Given the description of an element on the screen output the (x, y) to click on. 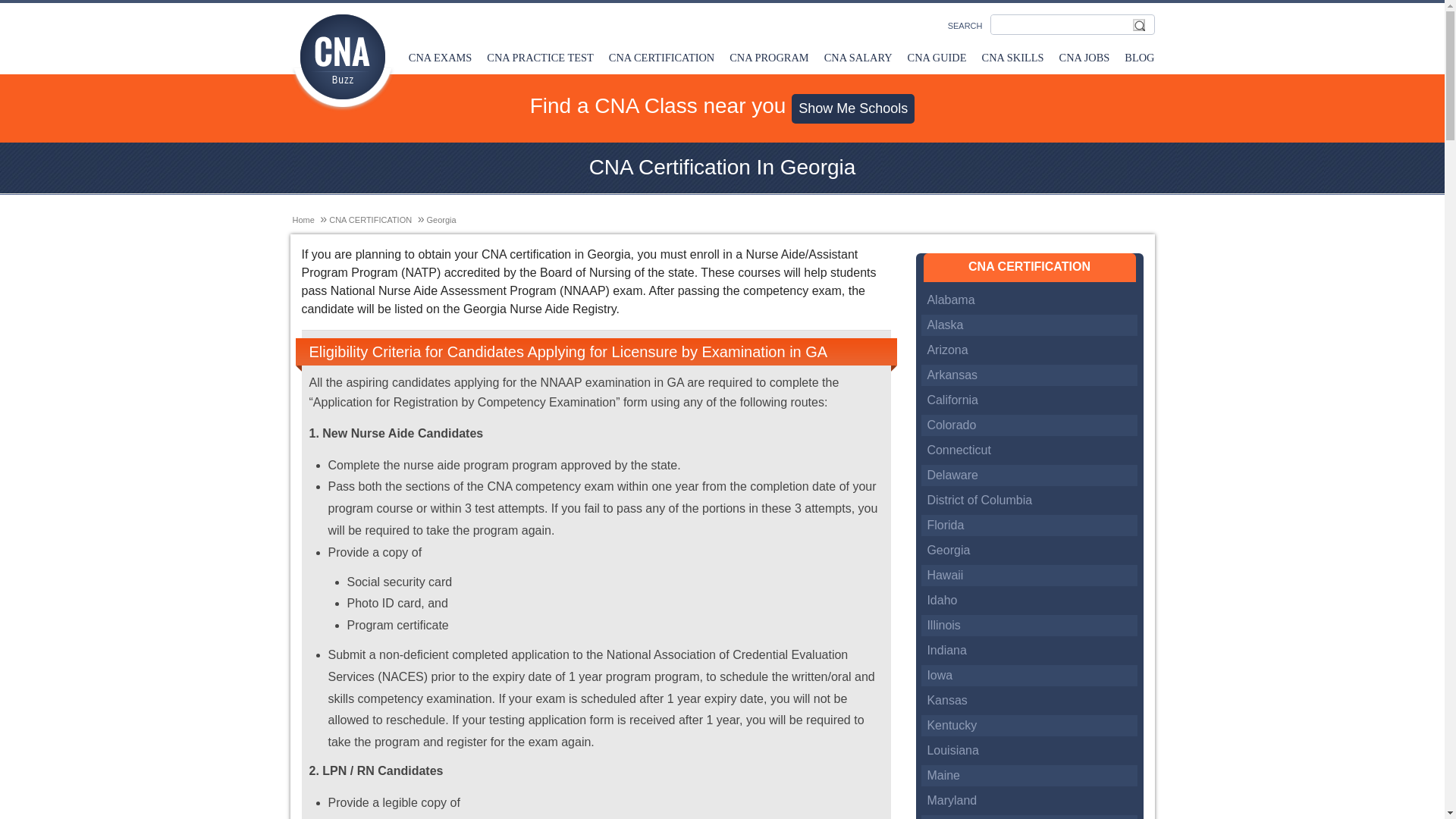
Louisiana (952, 749)
Maine (942, 775)
CNA CERTIFICATION (369, 219)
Georgia (947, 549)
CNA SKILLS (1012, 57)
Show Me Schools (853, 108)
California (952, 399)
Kansas (946, 699)
Delaware (952, 474)
Illinois (942, 625)
